Given the description of an element on the screen output the (x, y) to click on. 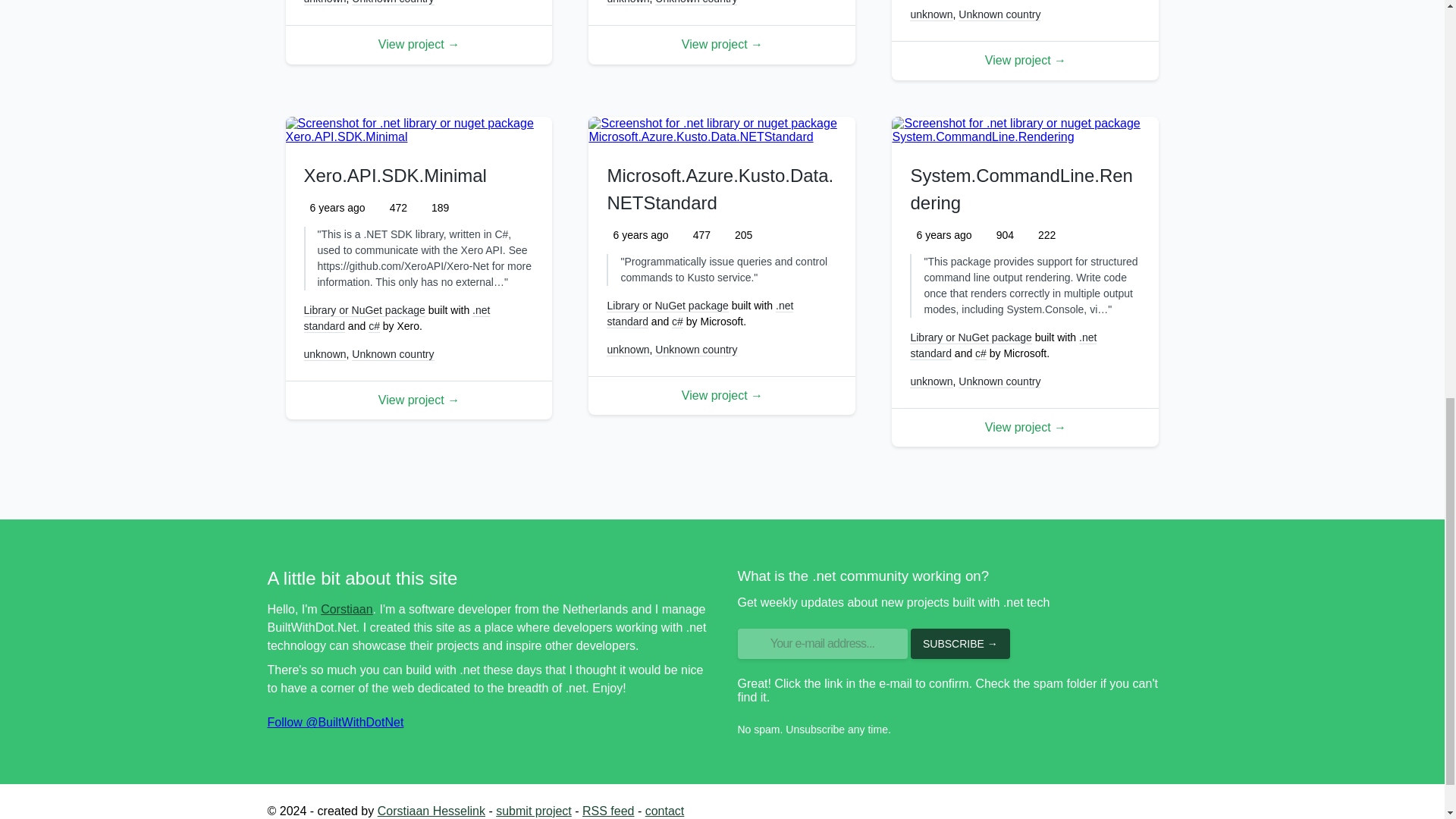
unknown (628, 2)
Unknown country (695, 2)
Unknown country (392, 2)
unknown (324, 2)
